Given the description of an element on the screen output the (x, y) to click on. 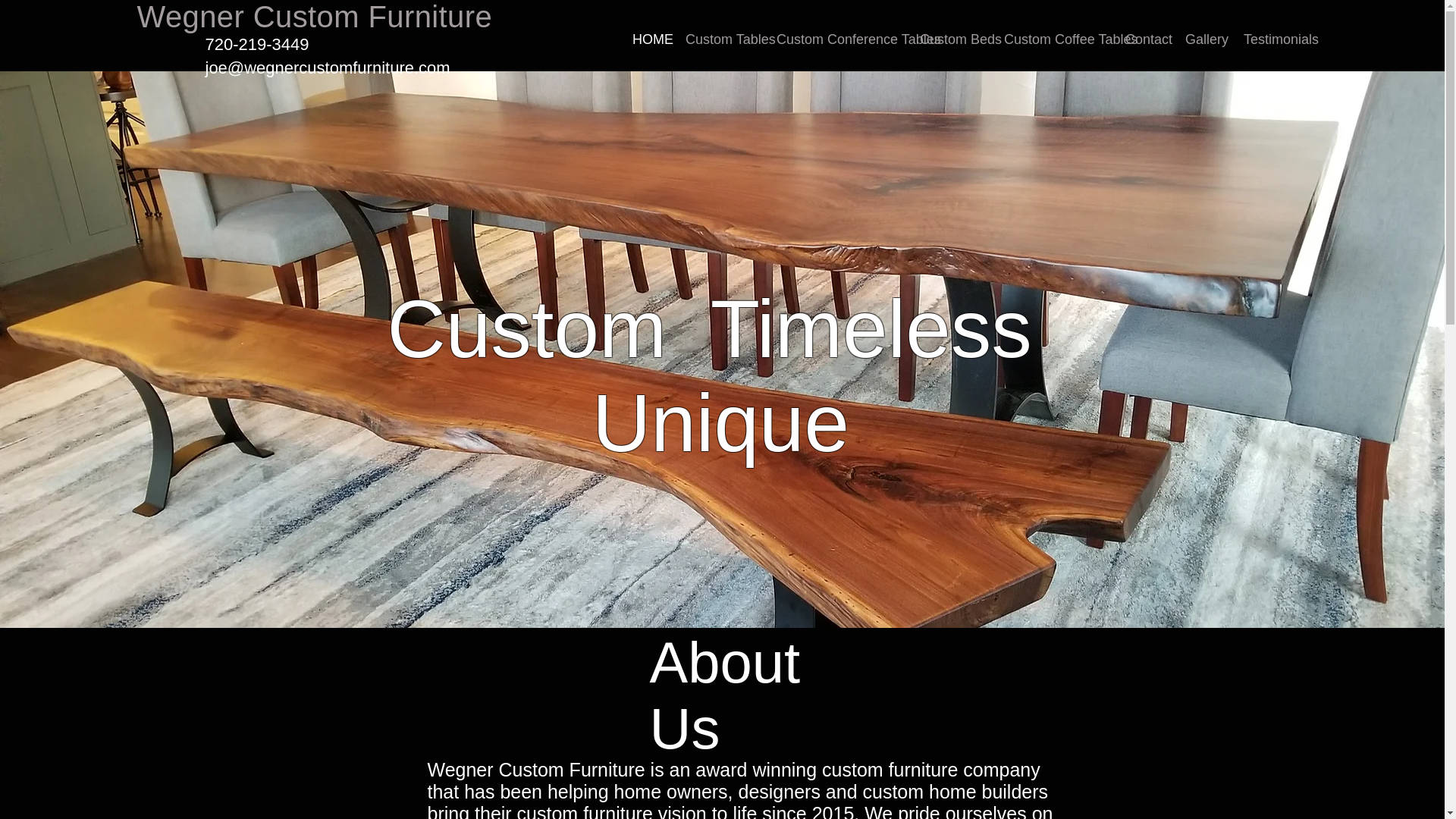
Gallery (1202, 39)
Custom Tables (719, 39)
Contact (1143, 39)
Custom Coffee Tables (1052, 39)
Testimonials (1272, 39)
Custom Beds (950, 39)
Custom Conference Tables (836, 39)
